Given the description of an element on the screen output the (x, y) to click on. 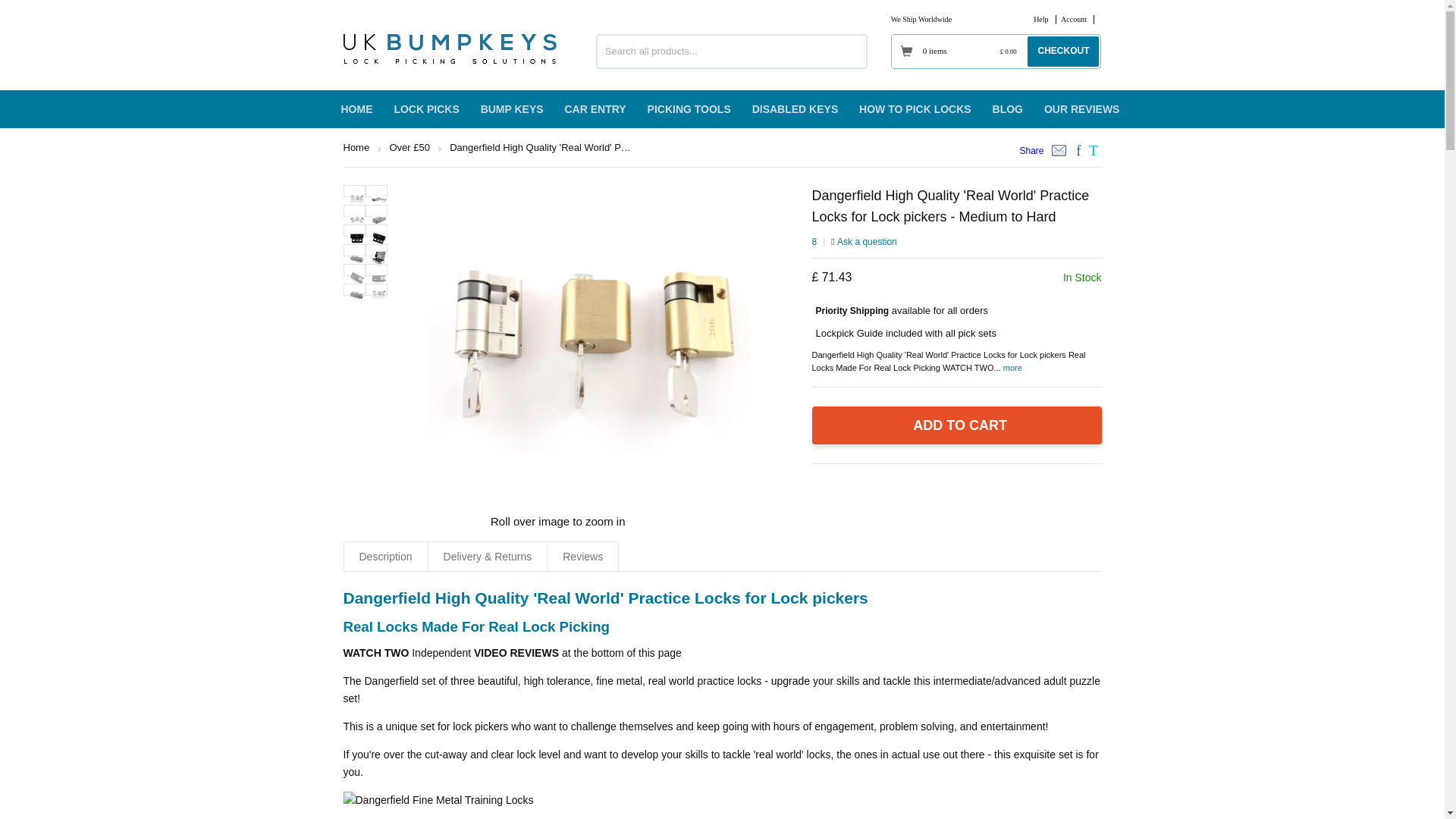
CHECKOUT (1063, 51)
BUMP KEYS (512, 108)
Account (1073, 19)
Search (850, 51)
Help (1040, 19)
HOME (356, 108)
LOCK PICKS (425, 108)
